Given the description of an element on the screen output the (x, y) to click on. 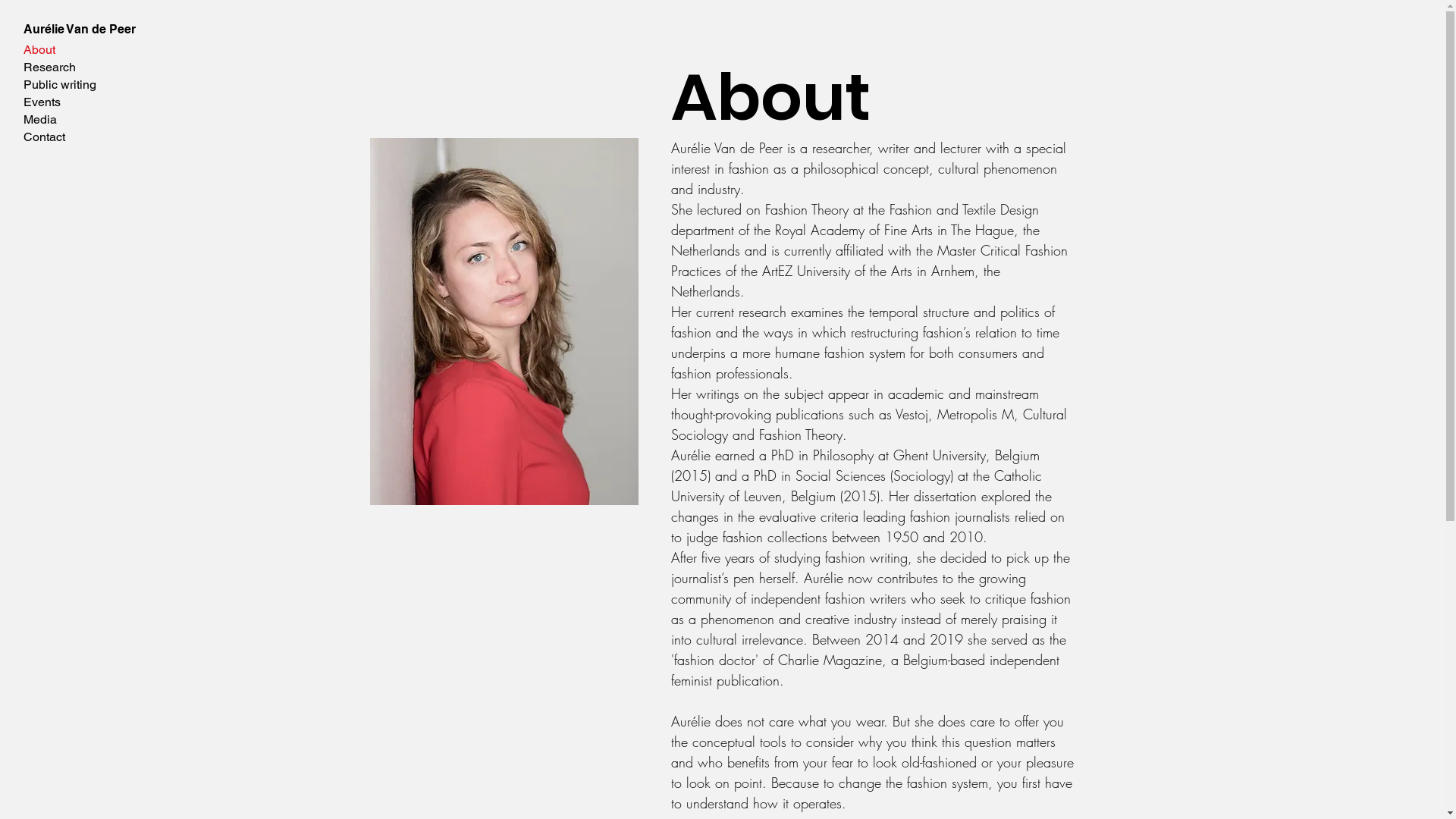
Media Element type: text (78, 119)
Public writing Element type: text (78, 84)
Research Element type: text (78, 66)
Events Element type: text (78, 101)
. Element type: text (781, 680)
Contact Element type: text (78, 136)
About Element type: text (78, 49)
